Given the description of an element on the screen output the (x, y) to click on. 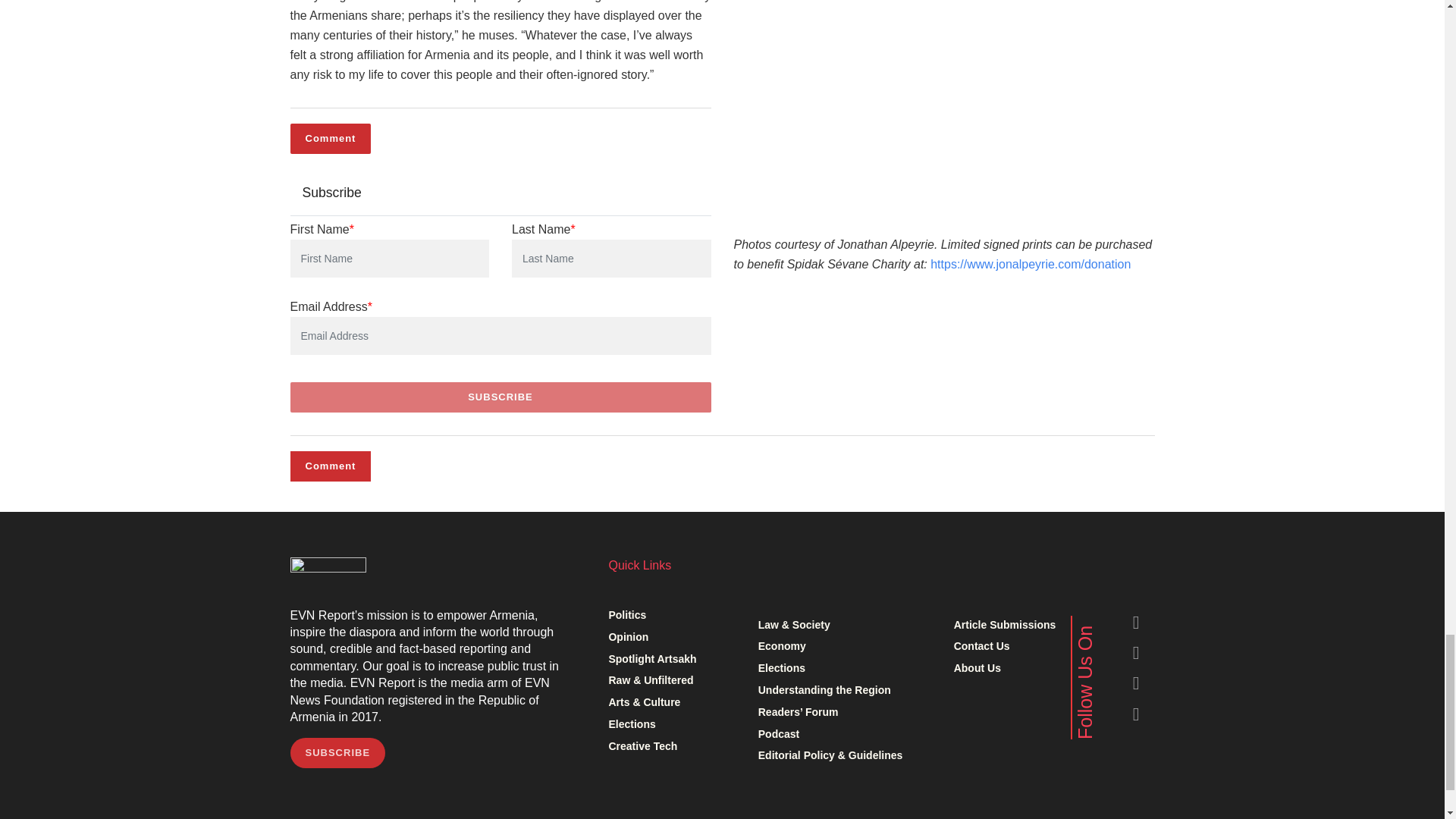
'Leaving Nothing Behind' by Jonathan Alpeyrie, 2020 (942, 106)
Comment (330, 138)
Subscribe (499, 397)
